Given the description of an element on the screen output the (x, y) to click on. 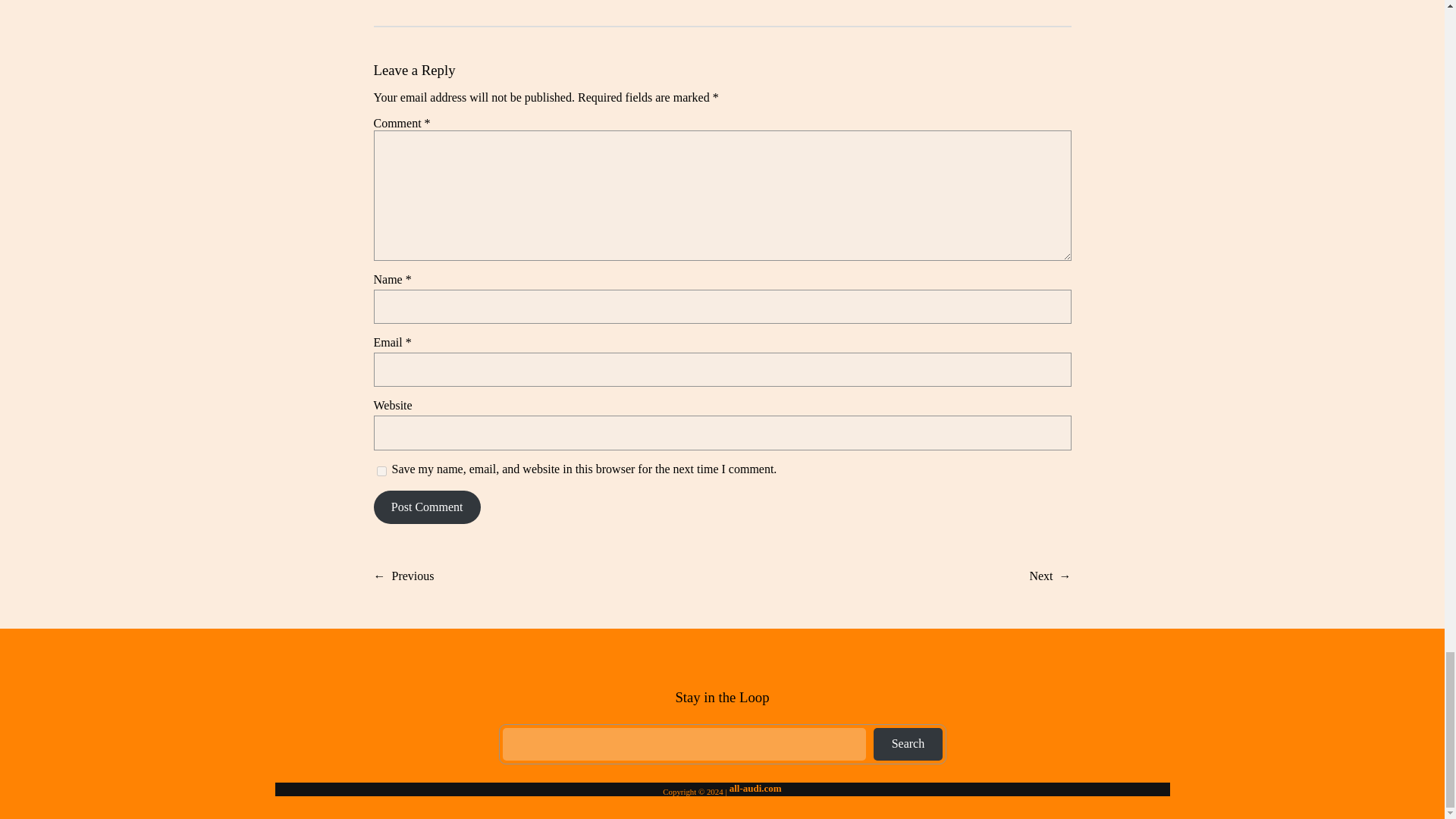
yes (380, 470)
Post Comment (426, 506)
